Given the description of an element on the screen output the (x, y) to click on. 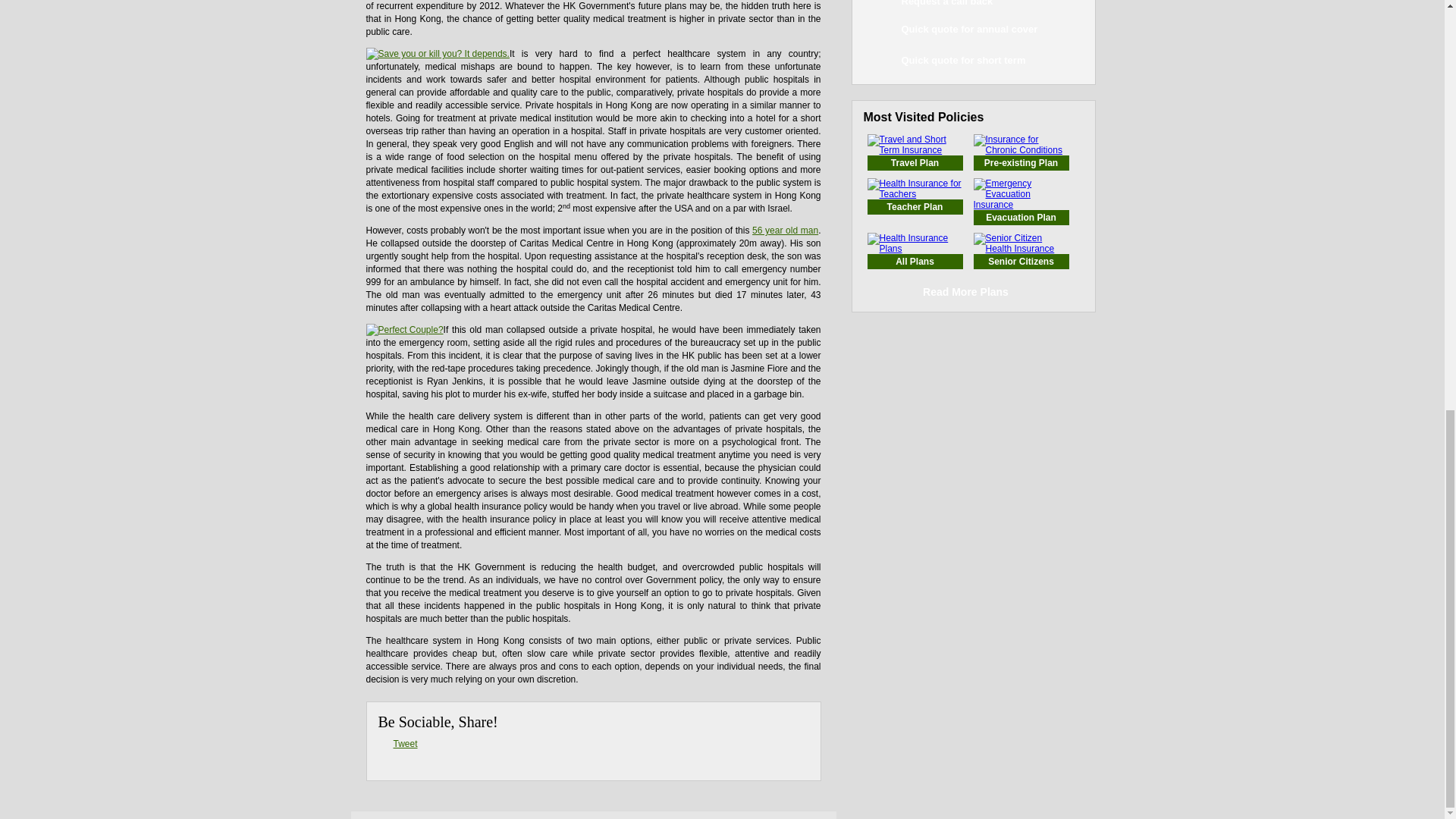
Save you or kill you? It depends. (436, 53)
Perfect Couple? (403, 329)
56 year old man (785, 230)
Tweet (404, 743)
Travel and Short Term Insurance (914, 162)
